Given the description of an element on the screen output the (x, y) to click on. 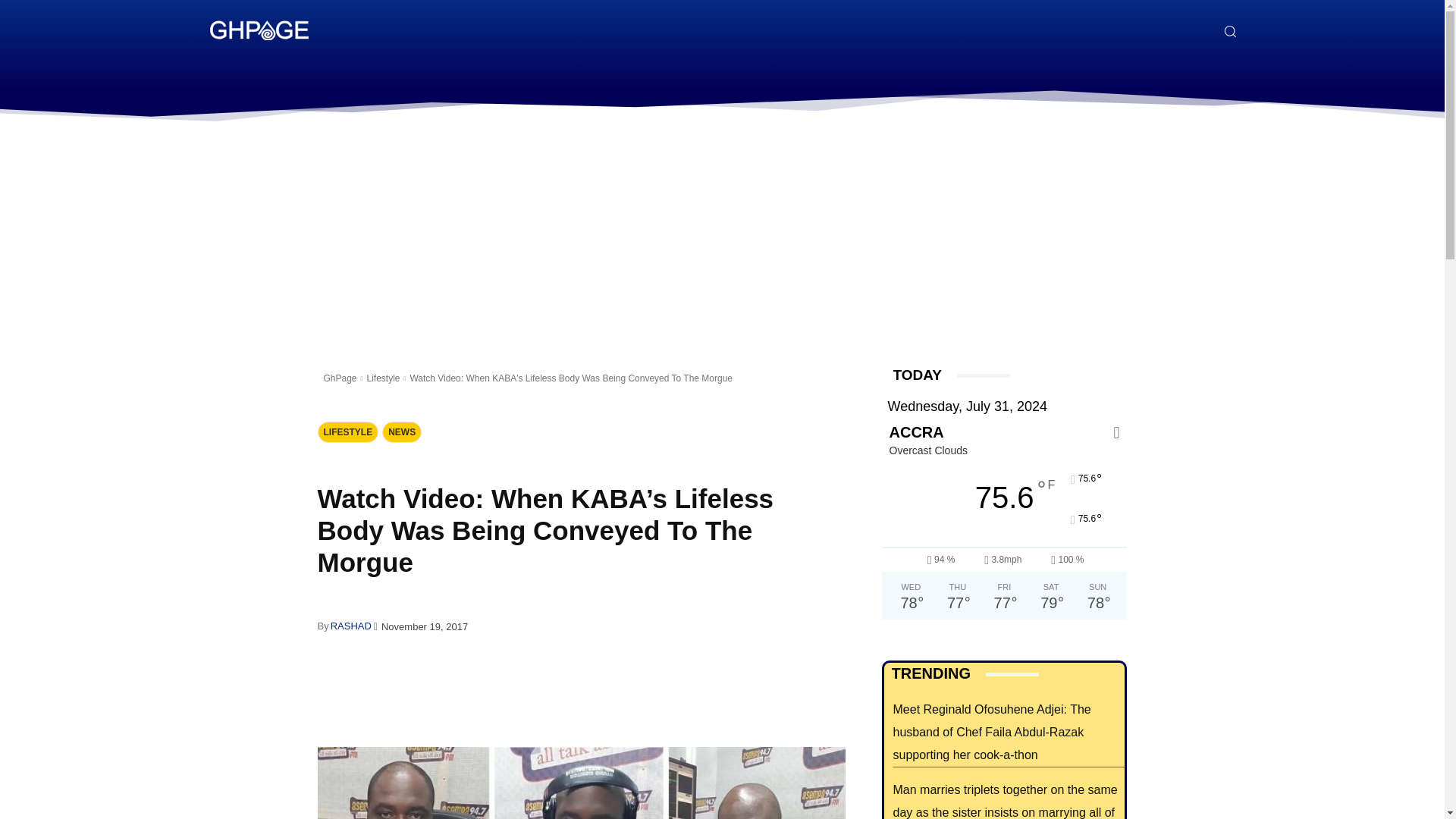
GHPAGE (258, 30)
View all posts in Lifestyle (382, 378)
